Given the description of an element on the screen output the (x, y) to click on. 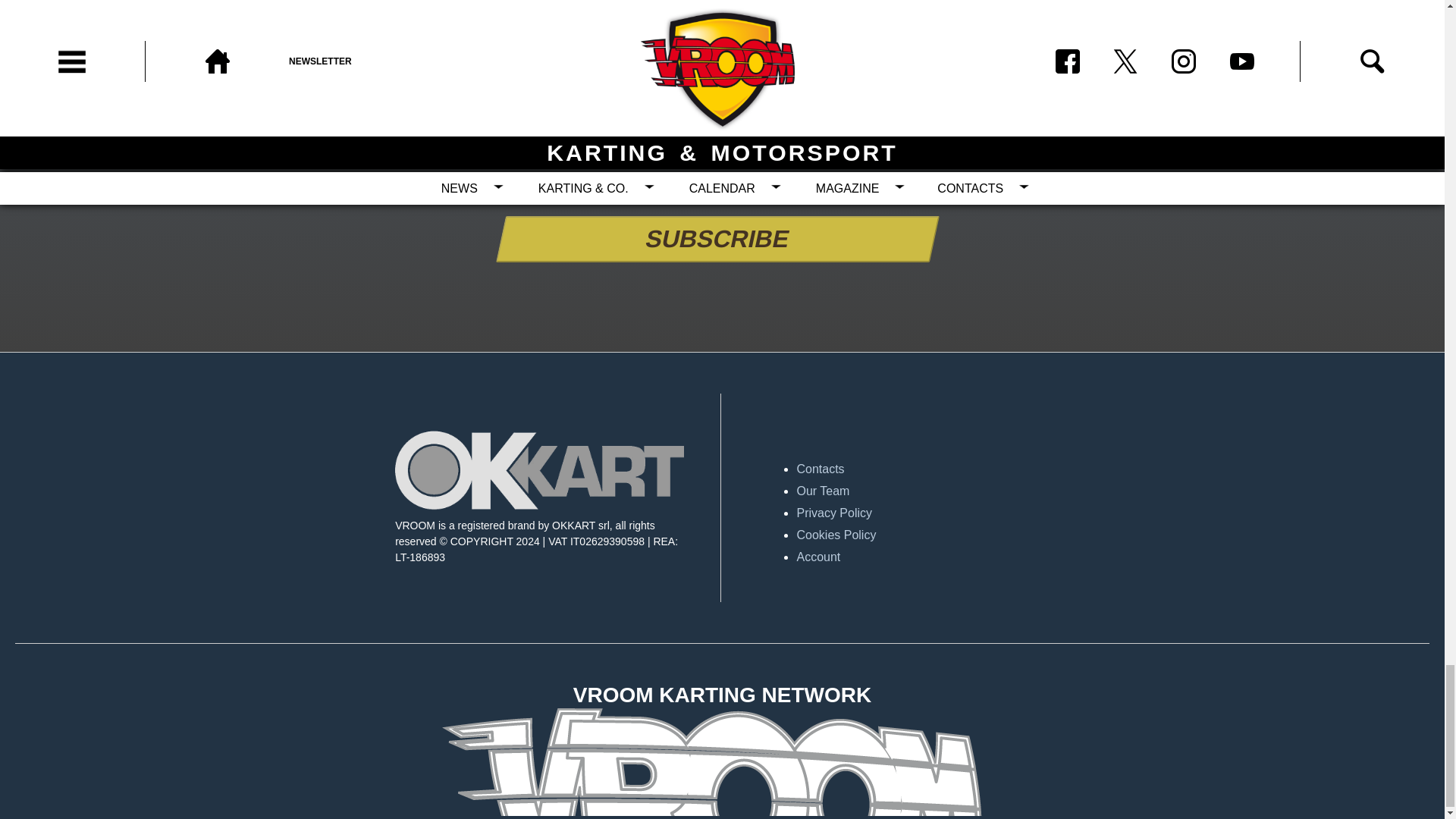
Account (940, 556)
2 (622, 186)
Contacts (940, 469)
Subscribe (713, 239)
Cookies Policy (940, 535)
Our Team (940, 491)
Privacy Policy (940, 513)
